Given the description of an element on the screen output the (x, y) to click on. 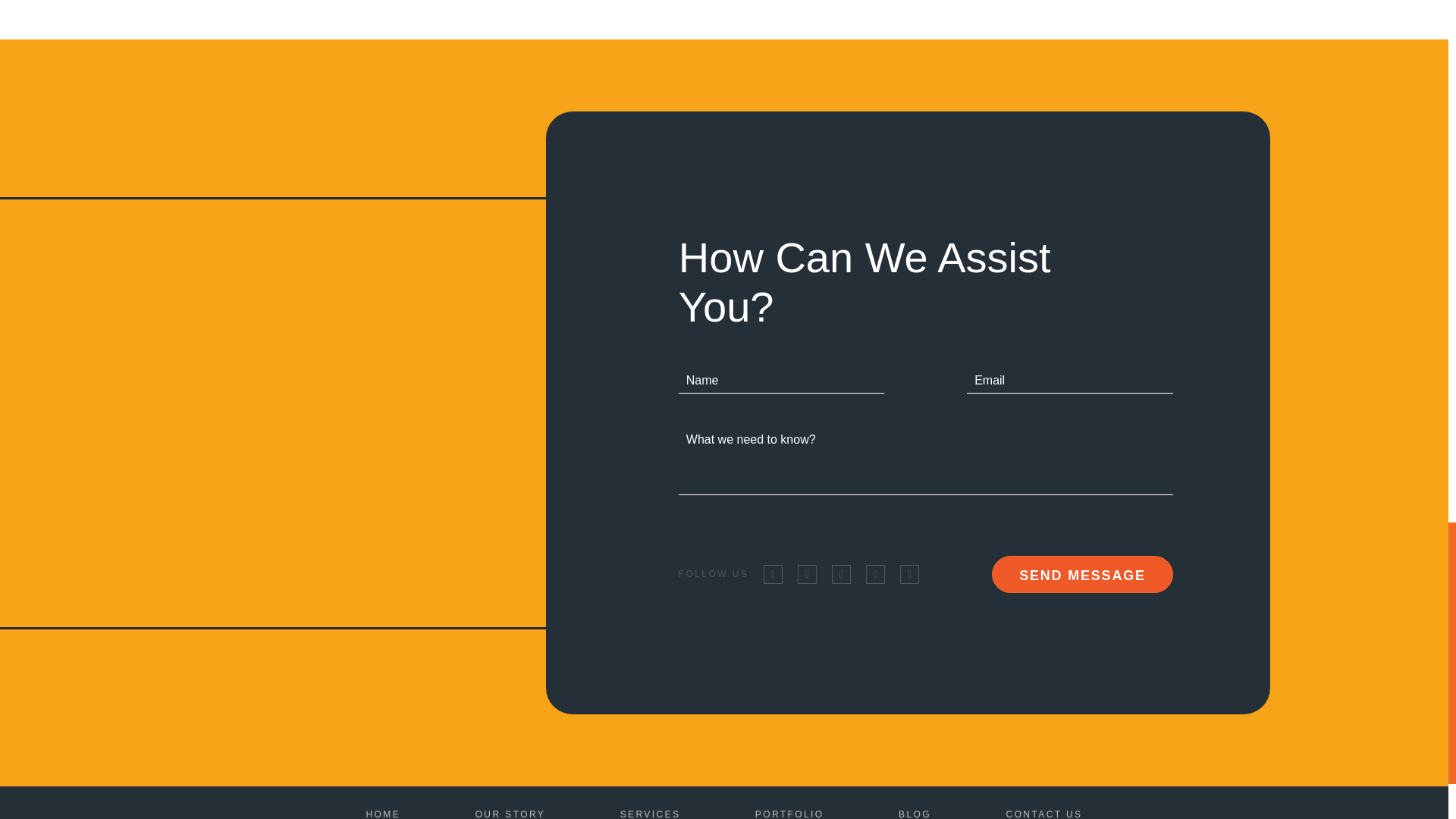
SEND MESSAGE (1082, 574)
HOME (382, 814)
OUR STORY (511, 814)
SERVICES (650, 814)
